Given the description of an element on the screen output the (x, y) to click on. 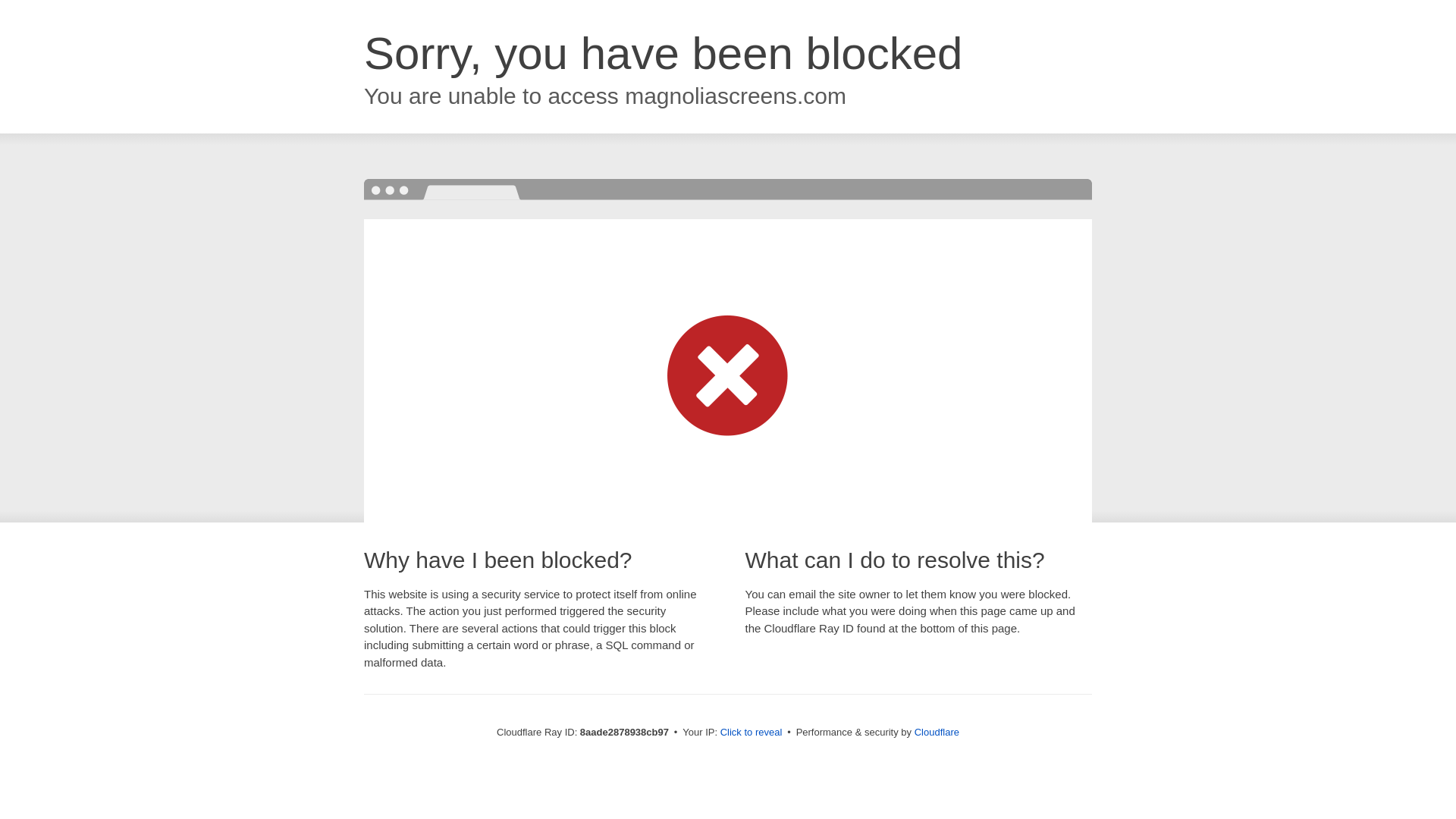
Click to reveal (751, 732)
Cloudflare (936, 731)
